Given the description of an element on the screen output the (x, y) to click on. 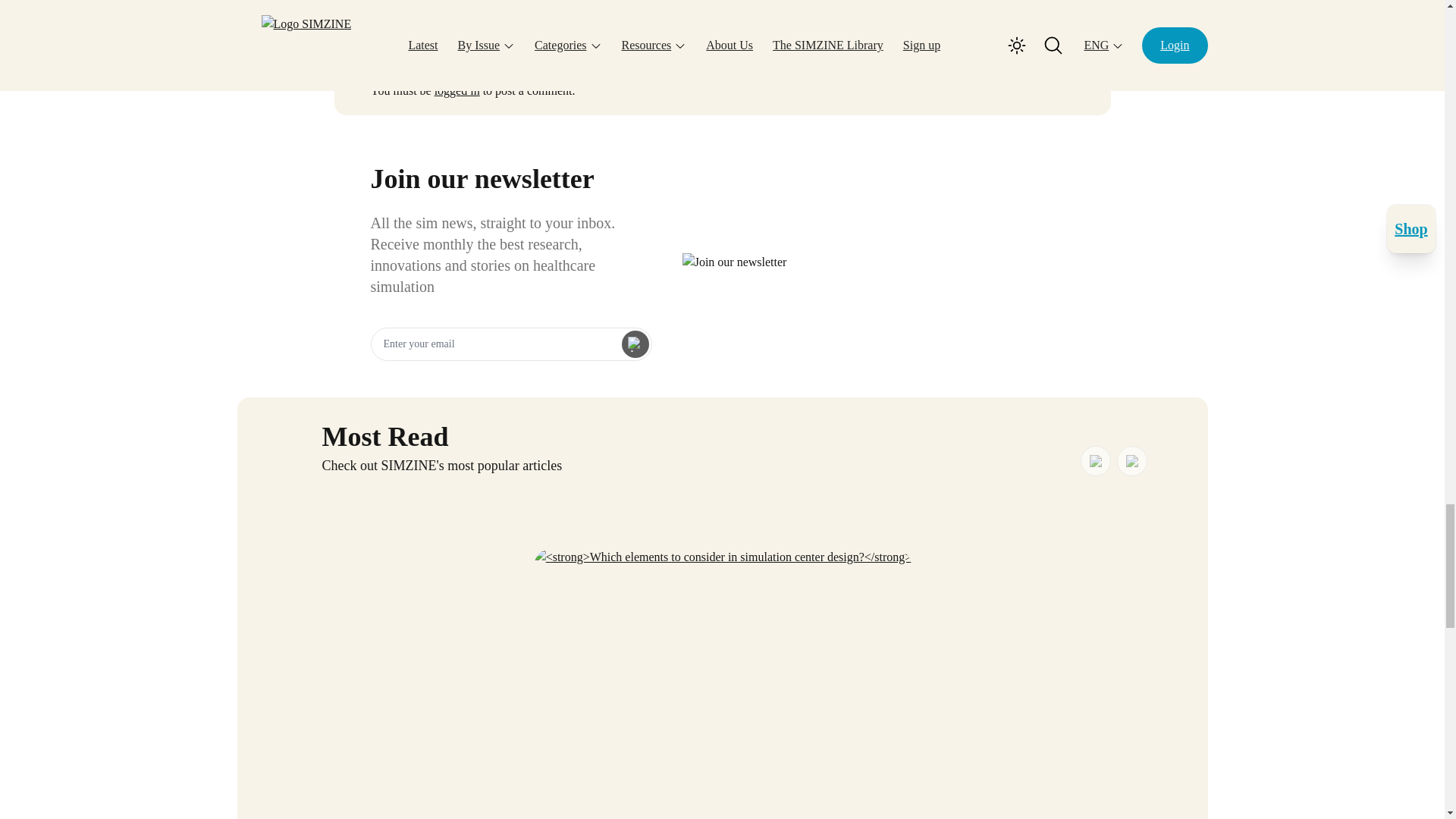
Previous (1094, 460)
